Given the description of an element on the screen output the (x, y) to click on. 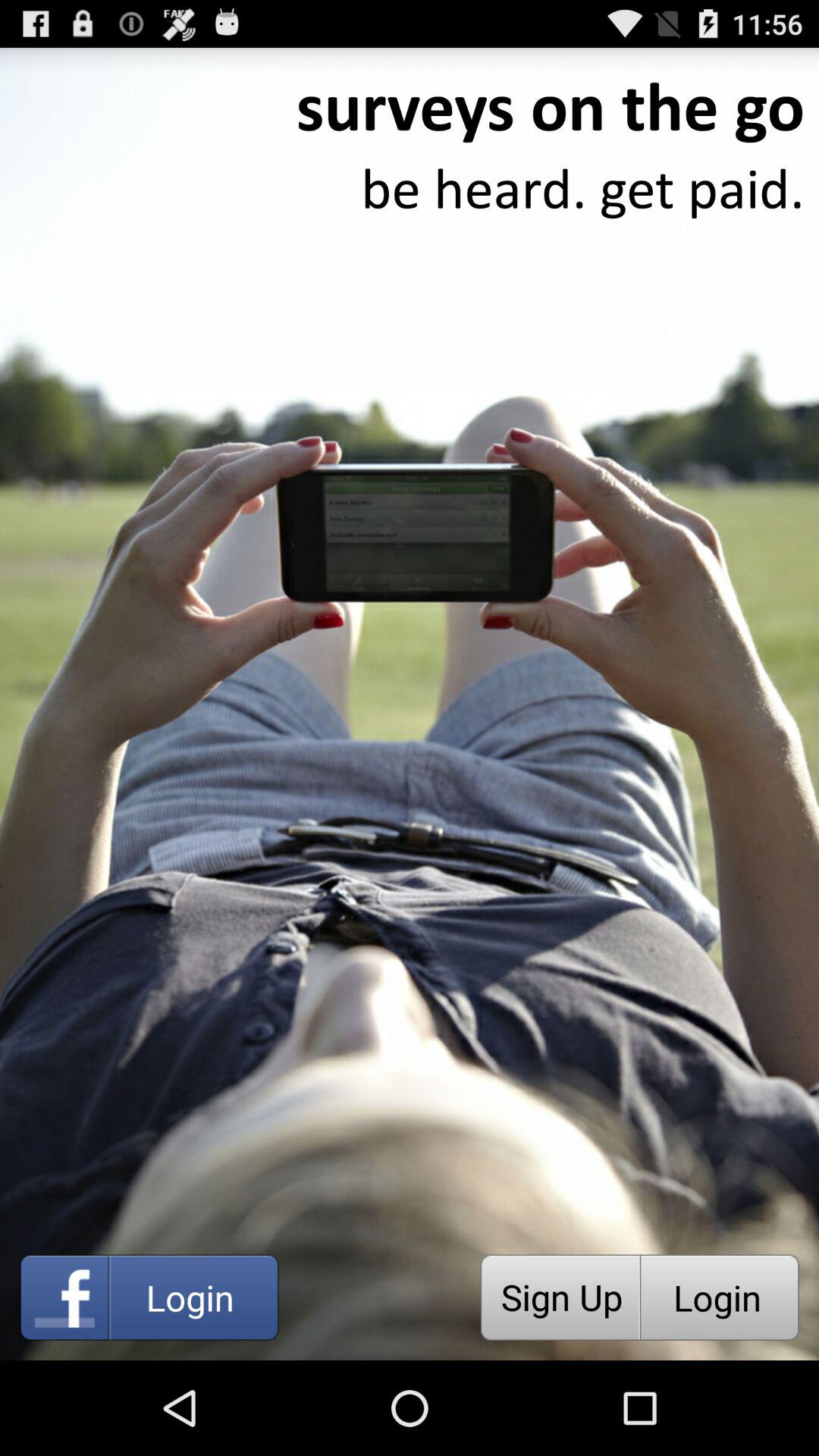
select the item to the left of login button (559, 1297)
